Given the description of an element on the screen output the (x, y) to click on. 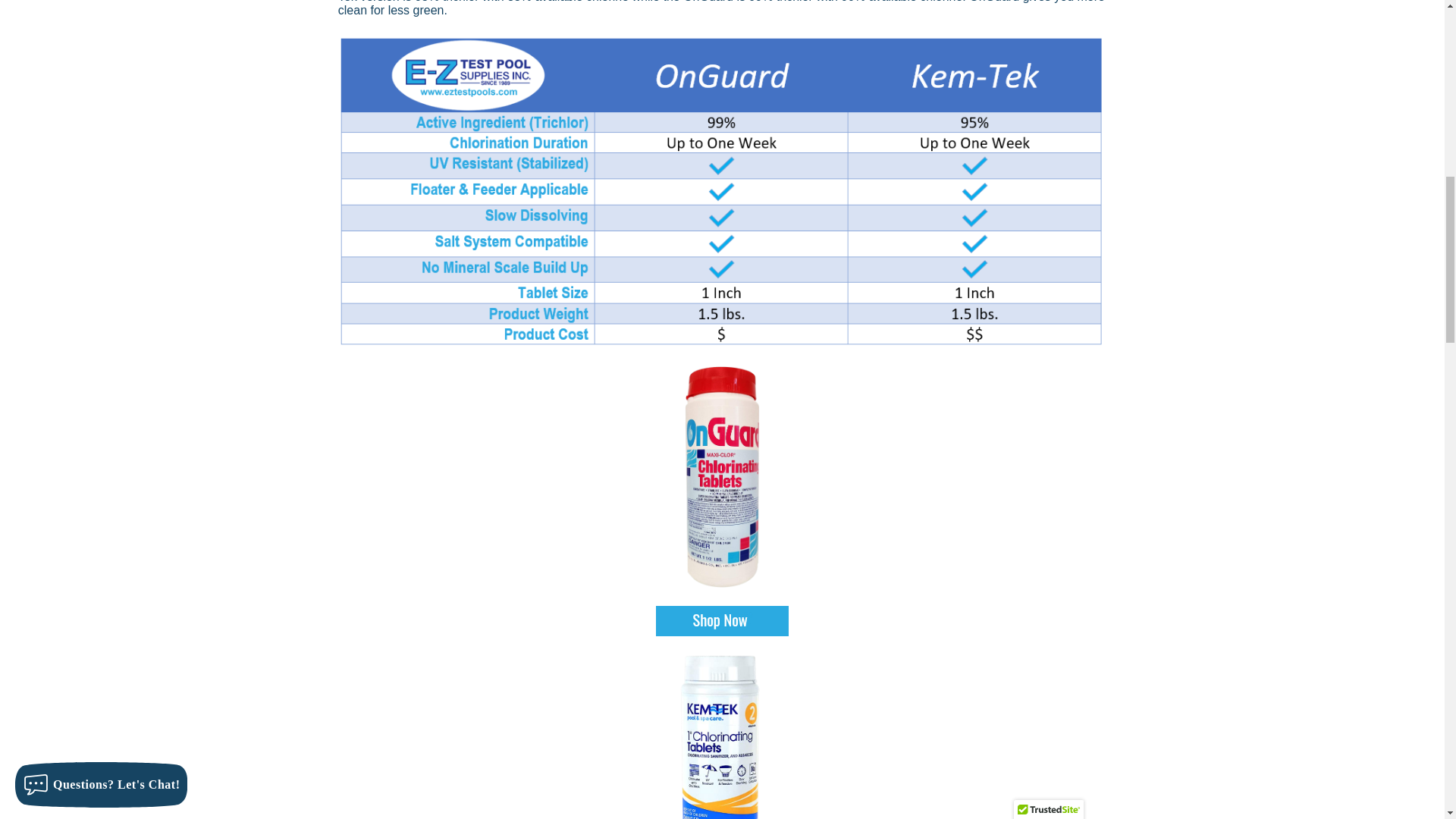
TrustedSite Certified (1048, 4)
